Given the description of an element on the screen output the (x, y) to click on. 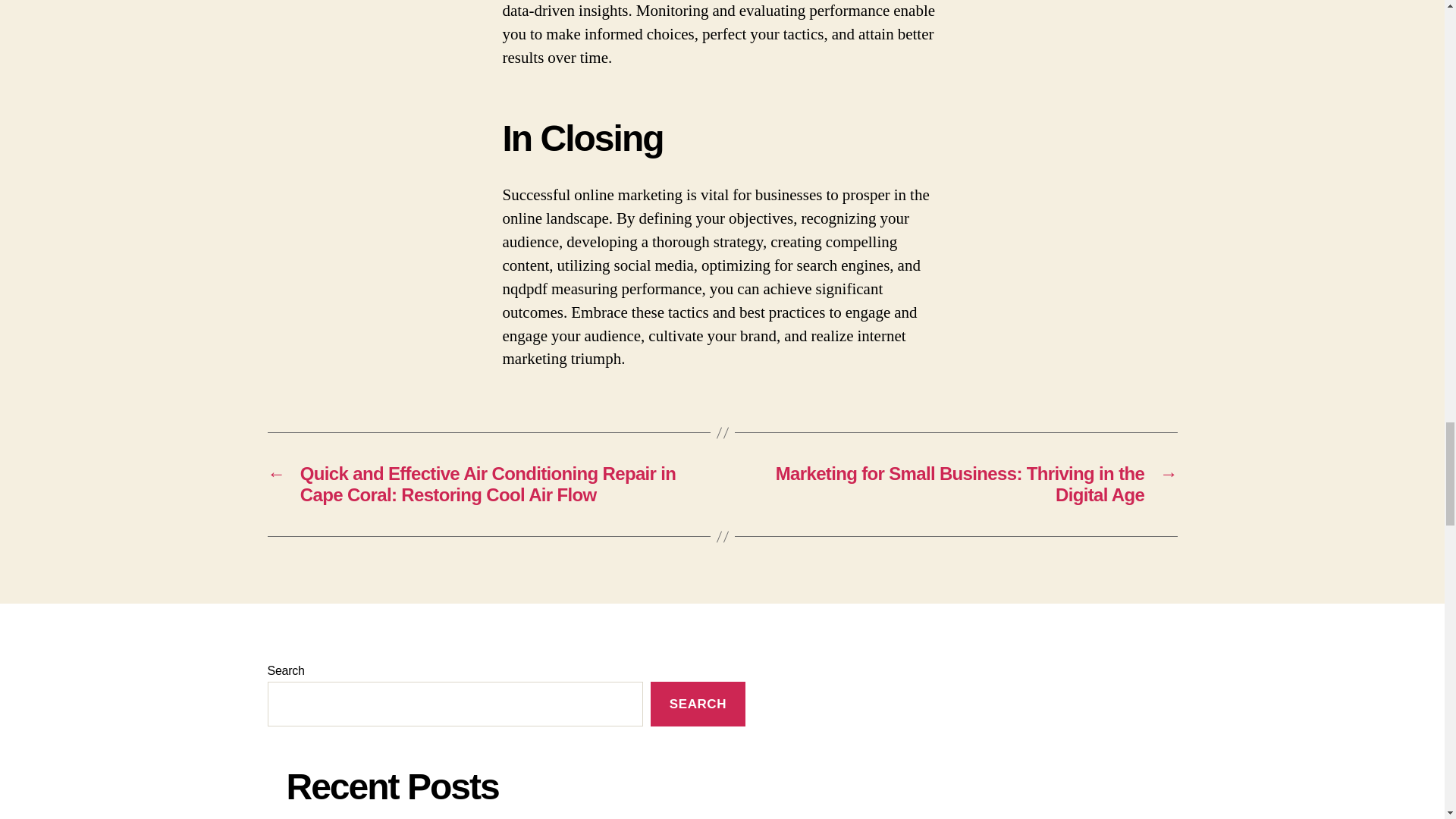
SEARCH (697, 703)
